Given the description of an element on the screen output the (x, y) to click on. 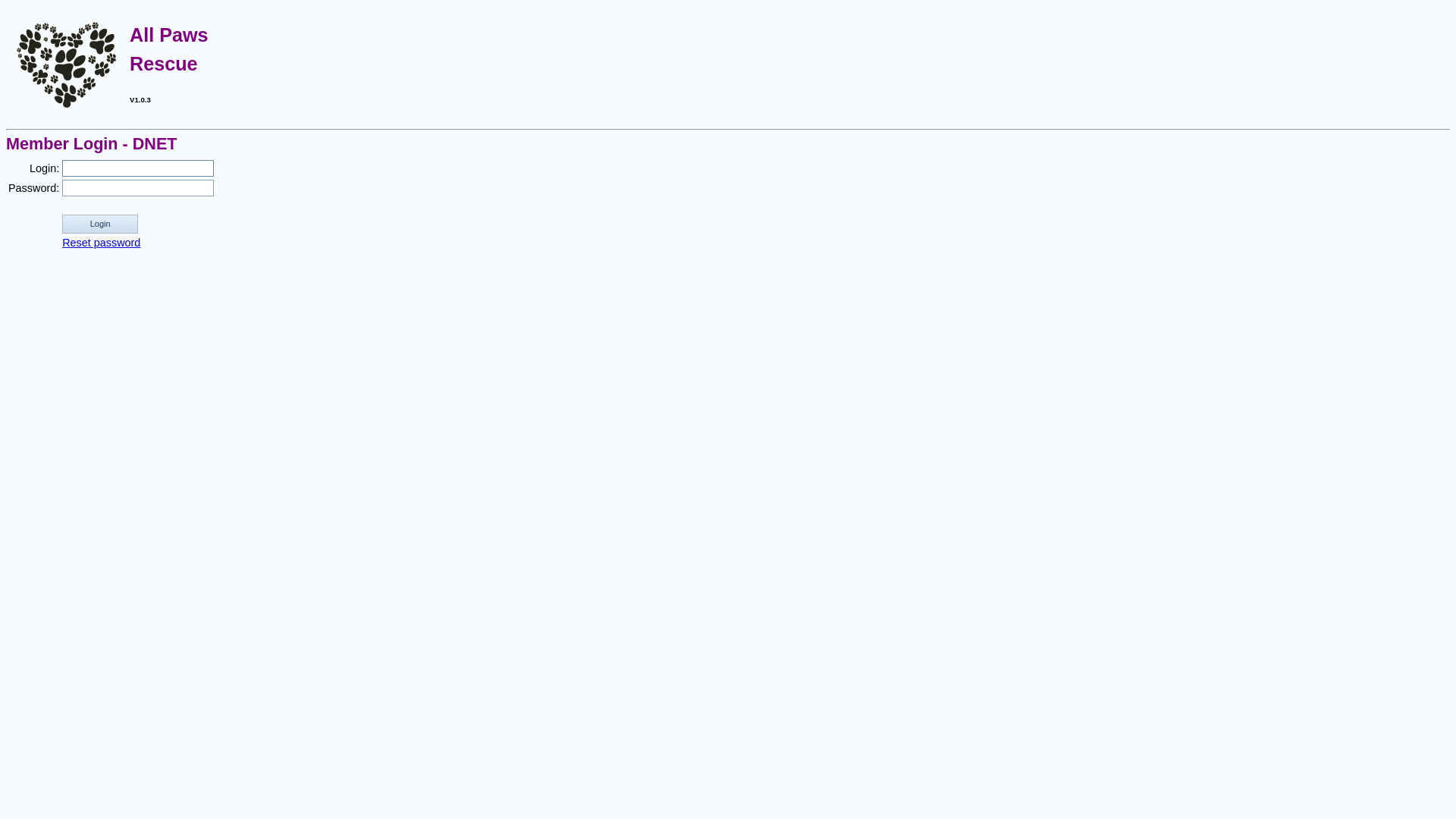
Reset password Element type: text (101, 242)
